Given the description of an element on the screen output the (x, y) to click on. 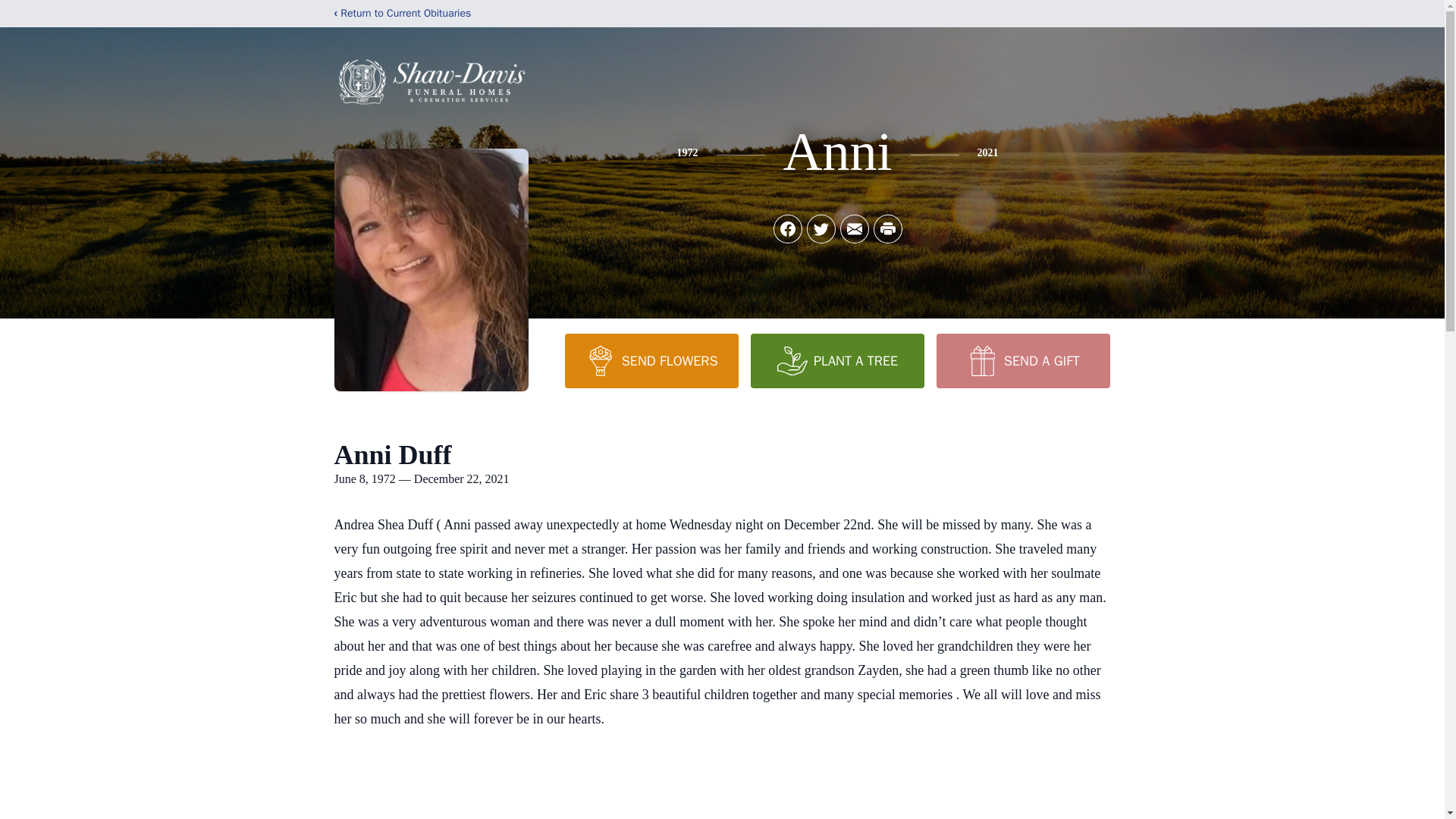
SEND A GIFT (1022, 360)
SEND FLOWERS (651, 360)
PLANT A TREE (837, 360)
